Given the description of an element on the screen output the (x, y) to click on. 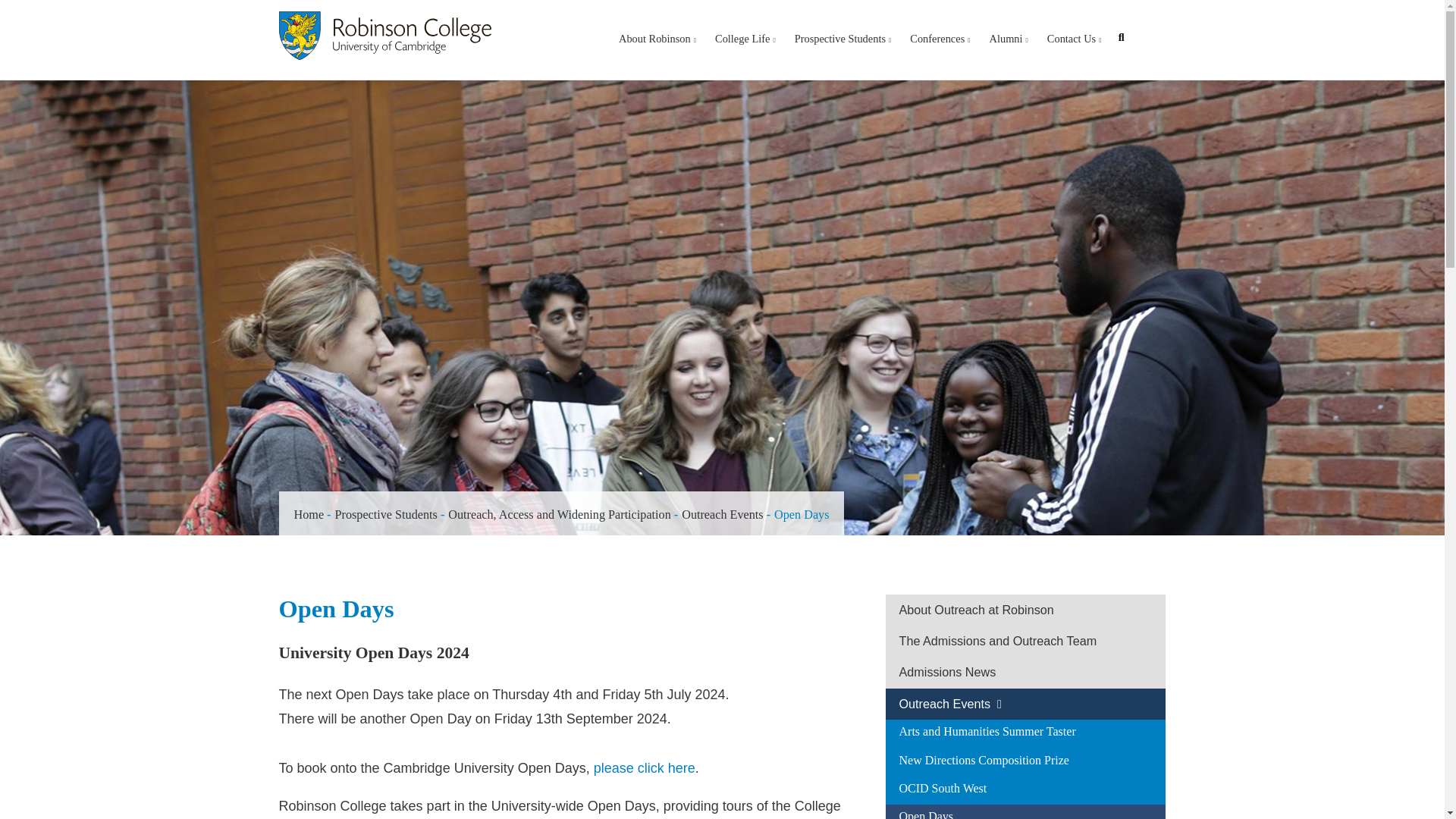
About Robinson (657, 38)
Home (385, 35)
College Life (745, 38)
